Given the description of an element on the screen output the (x, y) to click on. 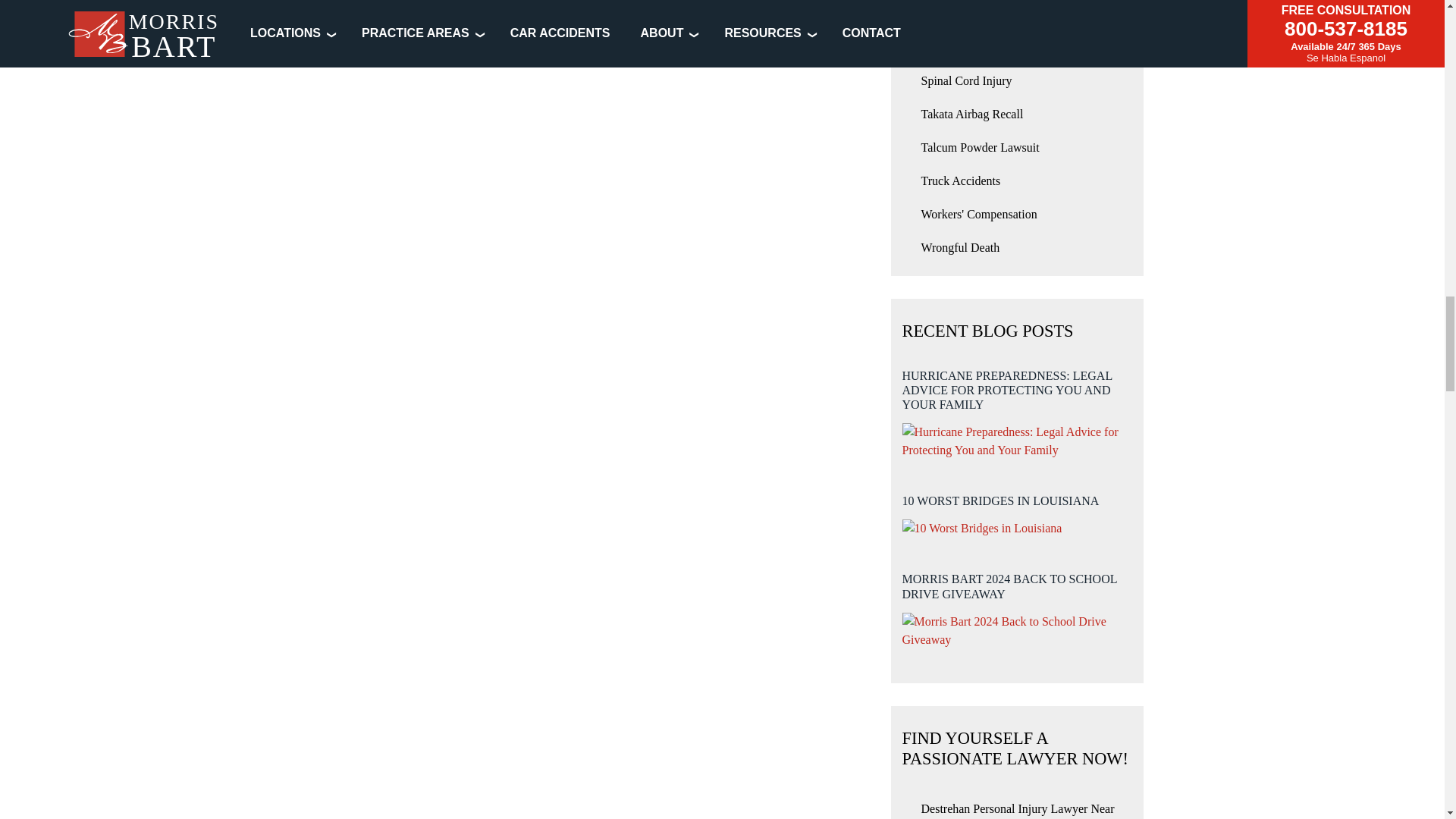
10 Worst Bridges in Louisiana (1017, 509)
Morris Bart 2024 Back to School Drive Giveaway (1017, 604)
10 Worst Bridges in Louisiana (982, 528)
Morris Bart 2024 Back to School Drive Giveaway (1017, 630)
